Given the description of an element on the screen output the (x, y) to click on. 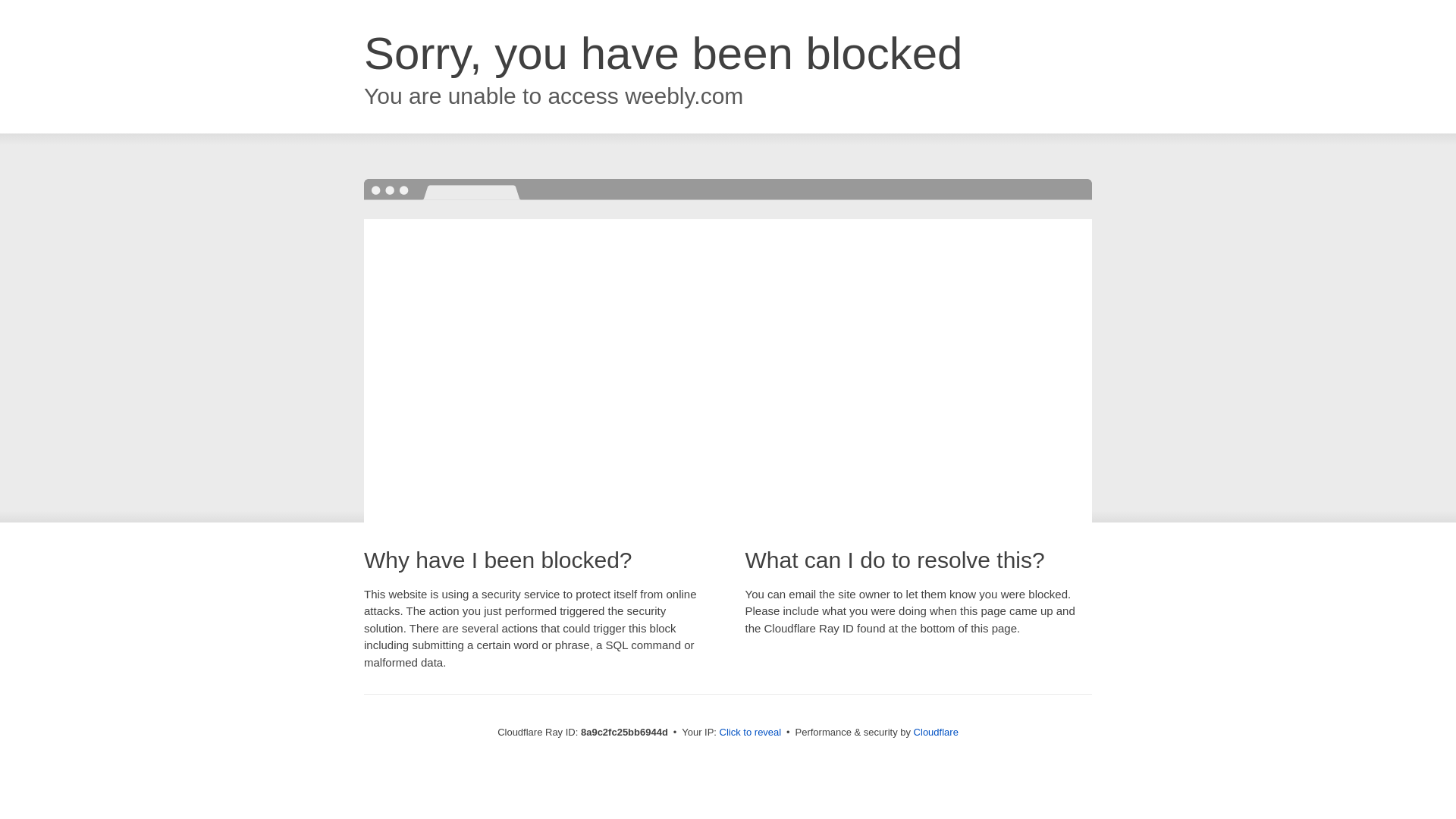
Cloudflare (936, 731)
Click to reveal (750, 732)
